Given the description of an element on the screen output the (x, y) to click on. 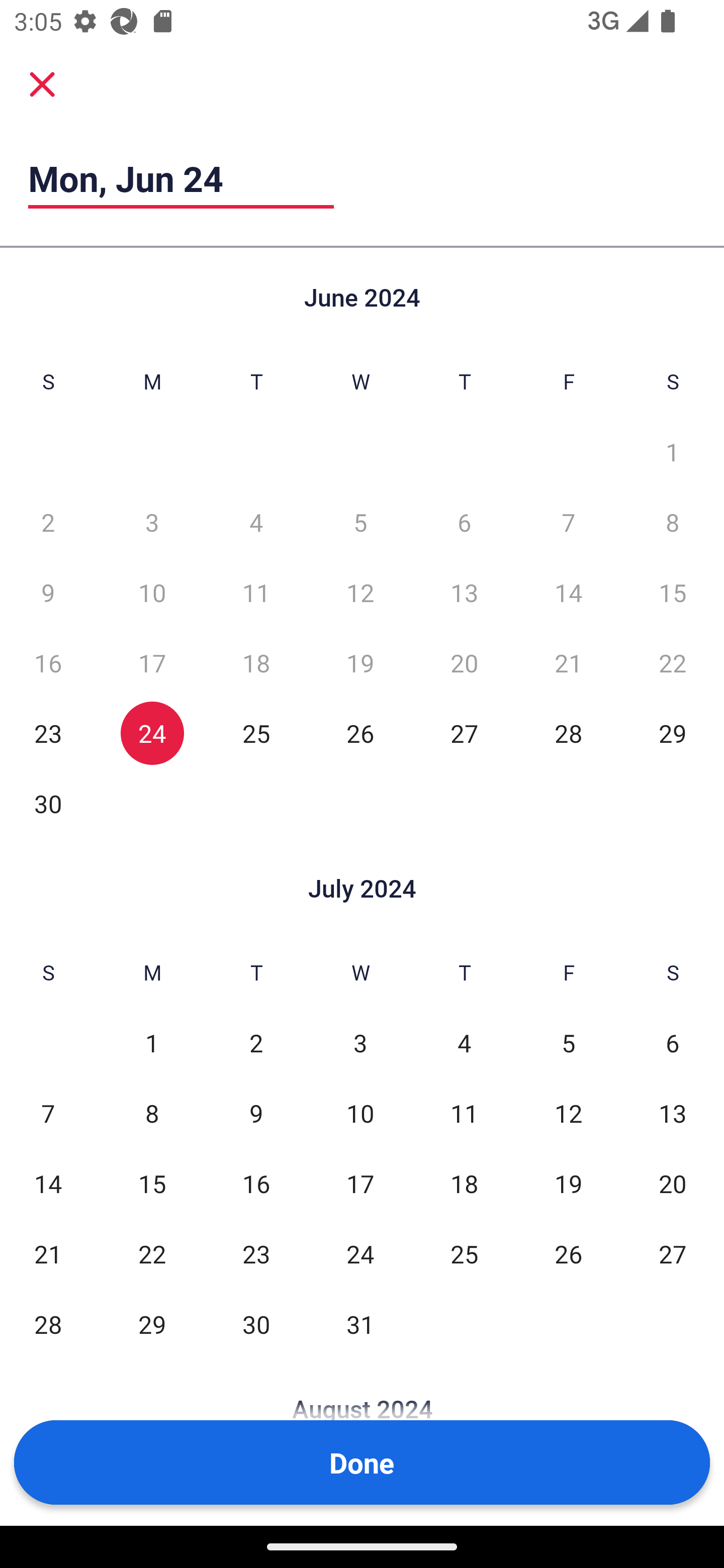
Cancel (41, 83)
Mon, Jun 24 (180, 178)
1 Sat, Jun 1, Not Selected (672, 452)
2 Sun, Jun 2, Not Selected (48, 521)
3 Mon, Jun 3, Not Selected (152, 521)
4 Tue, Jun 4, Not Selected (256, 521)
5 Wed, Jun 5, Not Selected (360, 521)
6 Thu, Jun 6, Not Selected (464, 521)
7 Fri, Jun 7, Not Selected (568, 521)
8 Sat, Jun 8, Not Selected (672, 521)
9 Sun, Jun 9, Not Selected (48, 591)
10 Mon, Jun 10, Not Selected (152, 591)
11 Tue, Jun 11, Not Selected (256, 591)
12 Wed, Jun 12, Not Selected (360, 591)
13 Thu, Jun 13, Not Selected (464, 591)
14 Fri, Jun 14, Not Selected (568, 591)
15 Sat, Jun 15, Not Selected (672, 591)
16 Sun, Jun 16, Not Selected (48, 662)
17 Mon, Jun 17, Not Selected (152, 662)
18 Tue, Jun 18, Not Selected (256, 662)
19 Wed, Jun 19, Not Selected (360, 662)
20 Thu, Jun 20, Not Selected (464, 662)
21 Fri, Jun 21, Not Selected (568, 662)
22 Sat, Jun 22, Not Selected (672, 662)
23 Sun, Jun 23, Not Selected (48, 732)
24 Mon, Jun 24, Selected (152, 732)
25 Tue, Jun 25, Not Selected (256, 732)
26 Wed, Jun 26, Not Selected (360, 732)
27 Thu, Jun 27, Not Selected (464, 732)
28 Fri, Jun 28, Not Selected (568, 732)
29 Sat, Jun 29, Not Selected (672, 732)
30 Sun, Jun 30, Not Selected (48, 803)
1 Mon, Jul 1, Not Selected (152, 1043)
2 Tue, Jul 2, Not Selected (256, 1043)
3 Wed, Jul 3, Not Selected (360, 1043)
4 Thu, Jul 4, Not Selected (464, 1043)
5 Fri, Jul 5, Not Selected (568, 1043)
6 Sat, Jul 6, Not Selected (672, 1043)
7 Sun, Jul 7, Not Selected (48, 1112)
8 Mon, Jul 8, Not Selected (152, 1112)
9 Tue, Jul 9, Not Selected (256, 1112)
10 Wed, Jul 10, Not Selected (360, 1112)
11 Thu, Jul 11, Not Selected (464, 1112)
12 Fri, Jul 12, Not Selected (568, 1112)
13 Sat, Jul 13, Not Selected (672, 1112)
14 Sun, Jul 14, Not Selected (48, 1182)
15 Mon, Jul 15, Not Selected (152, 1182)
16 Tue, Jul 16, Not Selected (256, 1182)
17 Wed, Jul 17, Not Selected (360, 1182)
18 Thu, Jul 18, Not Selected (464, 1182)
19 Fri, Jul 19, Not Selected (568, 1182)
20 Sat, Jul 20, Not Selected (672, 1182)
21 Sun, Jul 21, Not Selected (48, 1253)
22 Mon, Jul 22, Not Selected (152, 1253)
23 Tue, Jul 23, Not Selected (256, 1253)
24 Wed, Jul 24, Not Selected (360, 1253)
25 Thu, Jul 25, Not Selected (464, 1253)
26 Fri, Jul 26, Not Selected (568, 1253)
27 Sat, Jul 27, Not Selected (672, 1253)
28 Sun, Jul 28, Not Selected (48, 1323)
29 Mon, Jul 29, Not Selected (152, 1323)
30 Tue, Jul 30, Not Selected (256, 1323)
31 Wed, Jul 31, Not Selected (360, 1323)
Done Button Done (361, 1462)
